Given the description of an element on the screen output the (x, y) to click on. 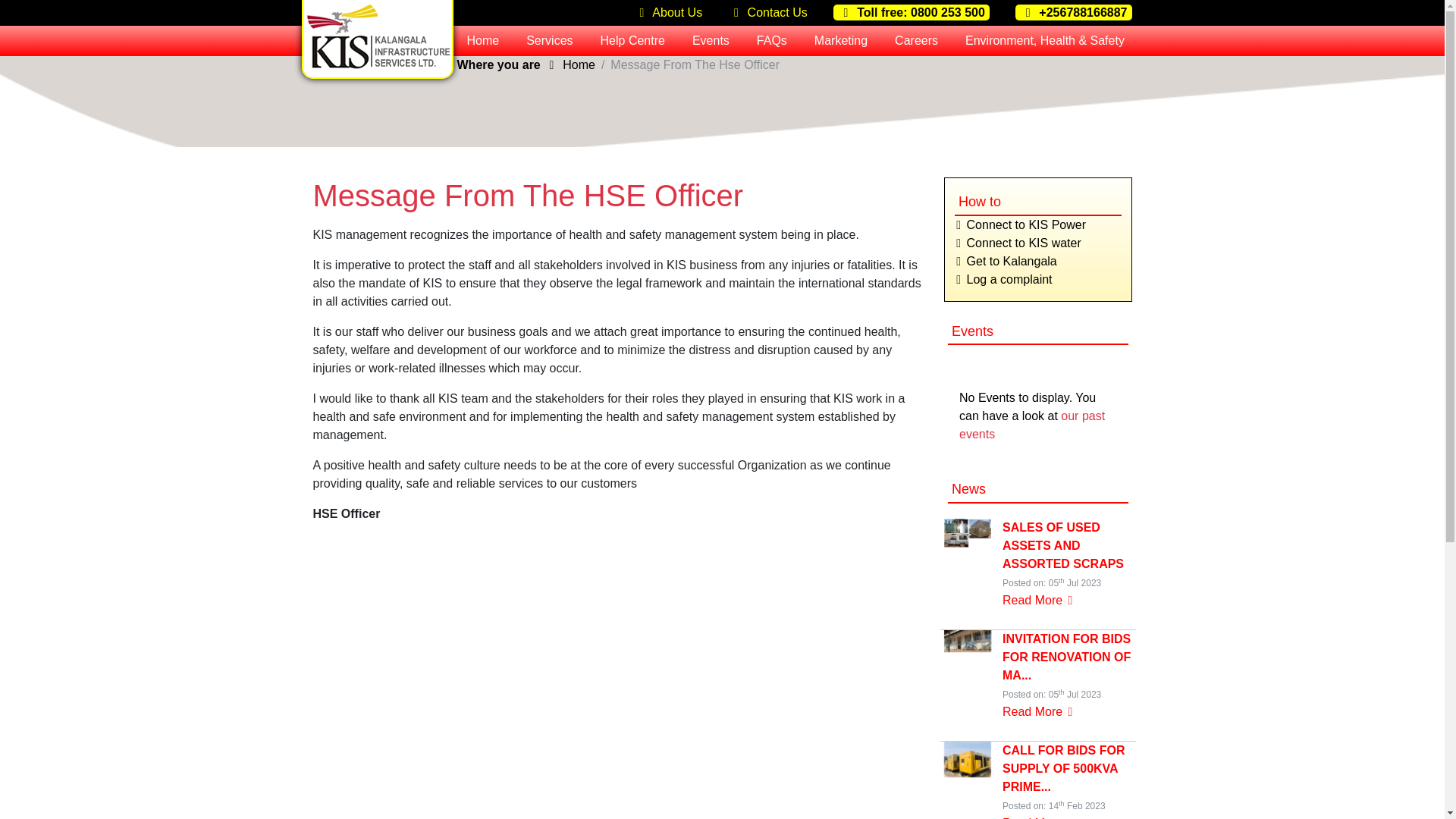
Events (710, 40)
About Us (668, 12)
FAQs (771, 40)
Toll free: 0800 253 500 (911, 12)
Services (549, 40)
Marketing (840, 40)
Help Centre (632, 40)
Home (482, 40)
Contact Us (767, 12)
